Given the description of an element on the screen output the (x, y) to click on. 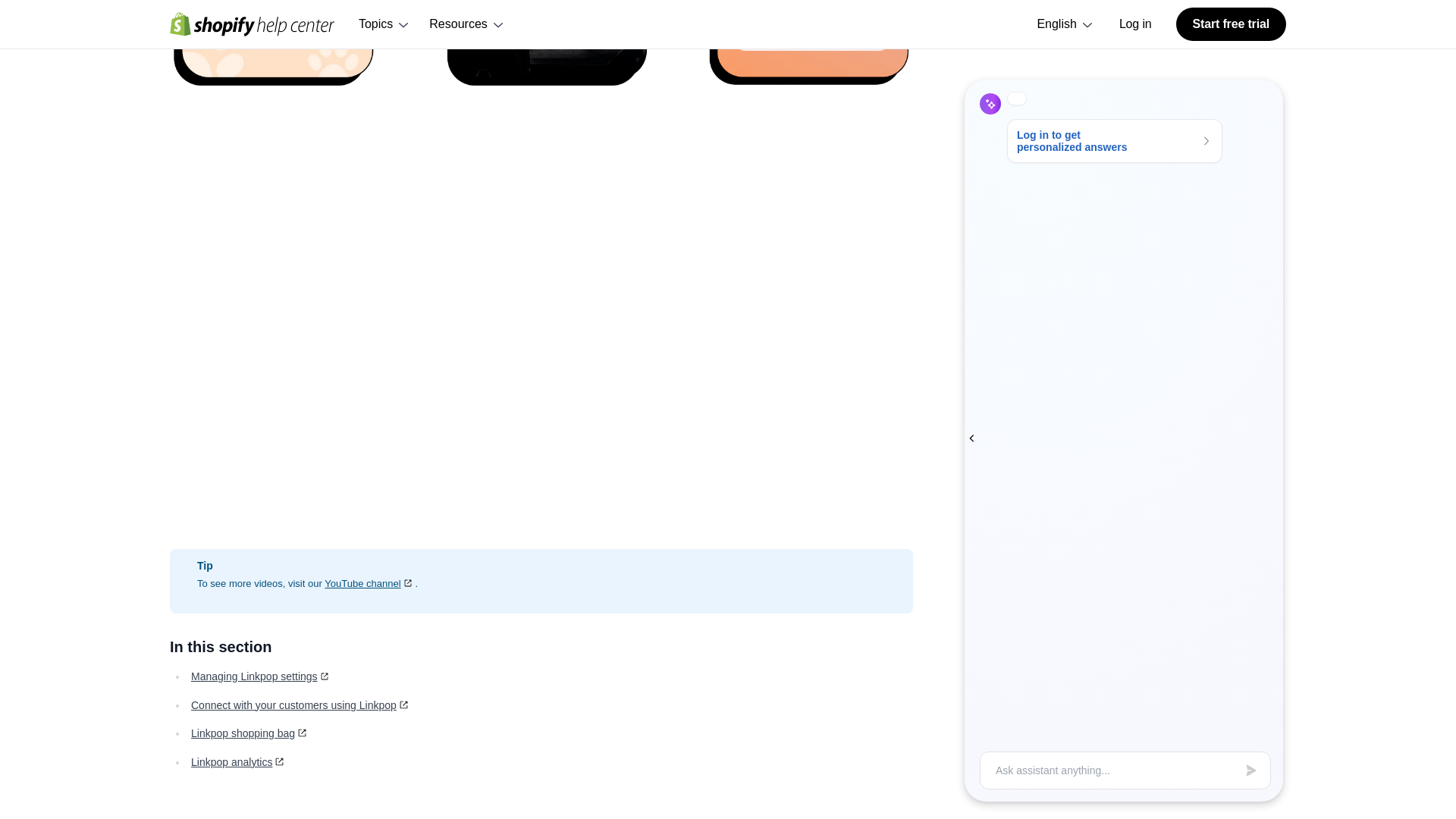
Linkpop analytics (238, 761)
Managing Linkpop settings (260, 676)
Connect with your customers using Linkpop (300, 705)
Linkpop shopping bag (249, 733)
YouTube channel (369, 583)
